Given the description of an element on the screen output the (x, y) to click on. 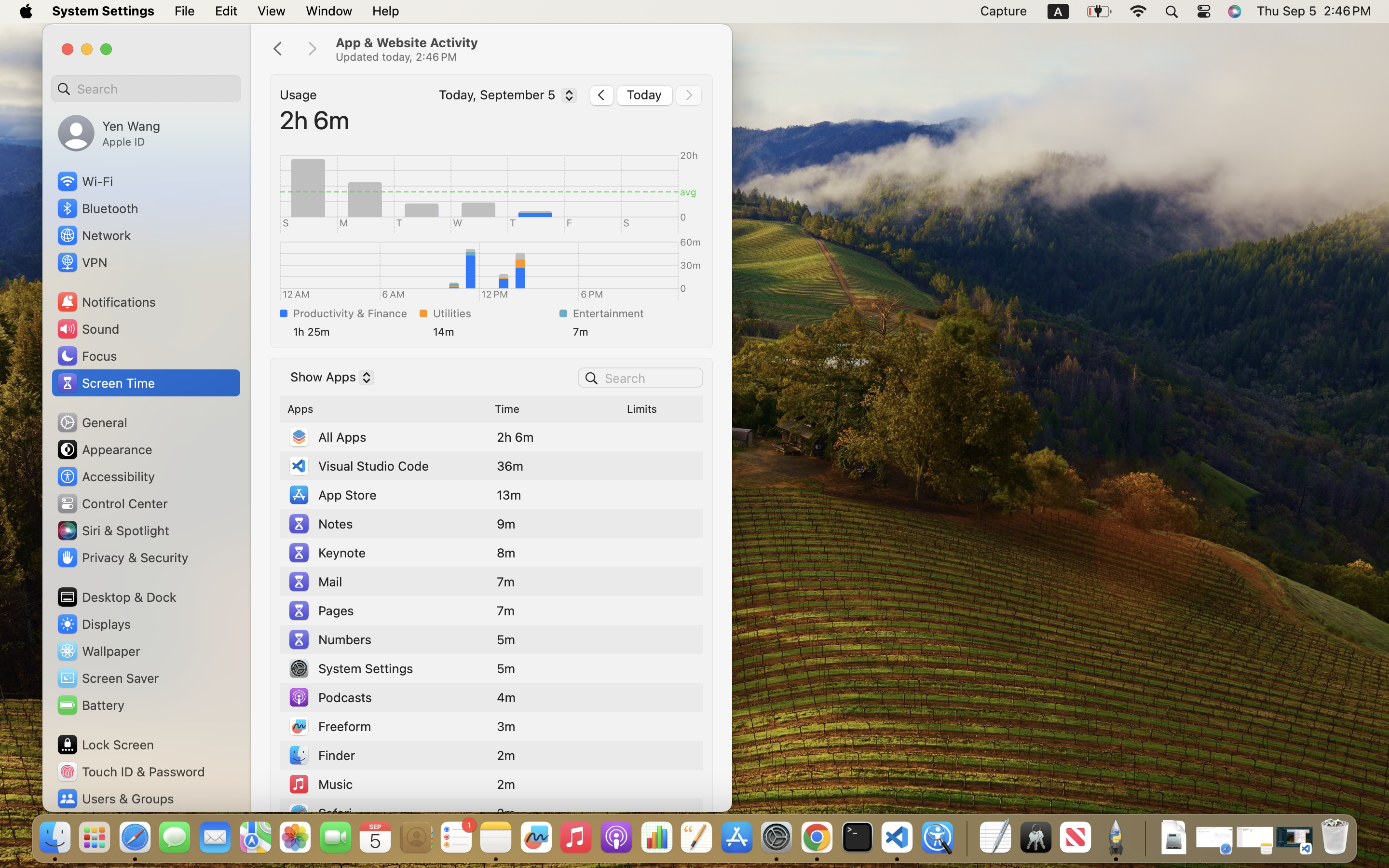
13m Element type: AXStaticText (508, 494)
Privacy & Security Element type: AXStaticText (121, 557)
Show Apps Element type: AXPopUpButton (328, 378)
36m Element type: AXStaticText (509, 465)
Productivity & Finance Element type: AXStaticText (354, 313)
